Given the description of an element on the screen output the (x, y) to click on. 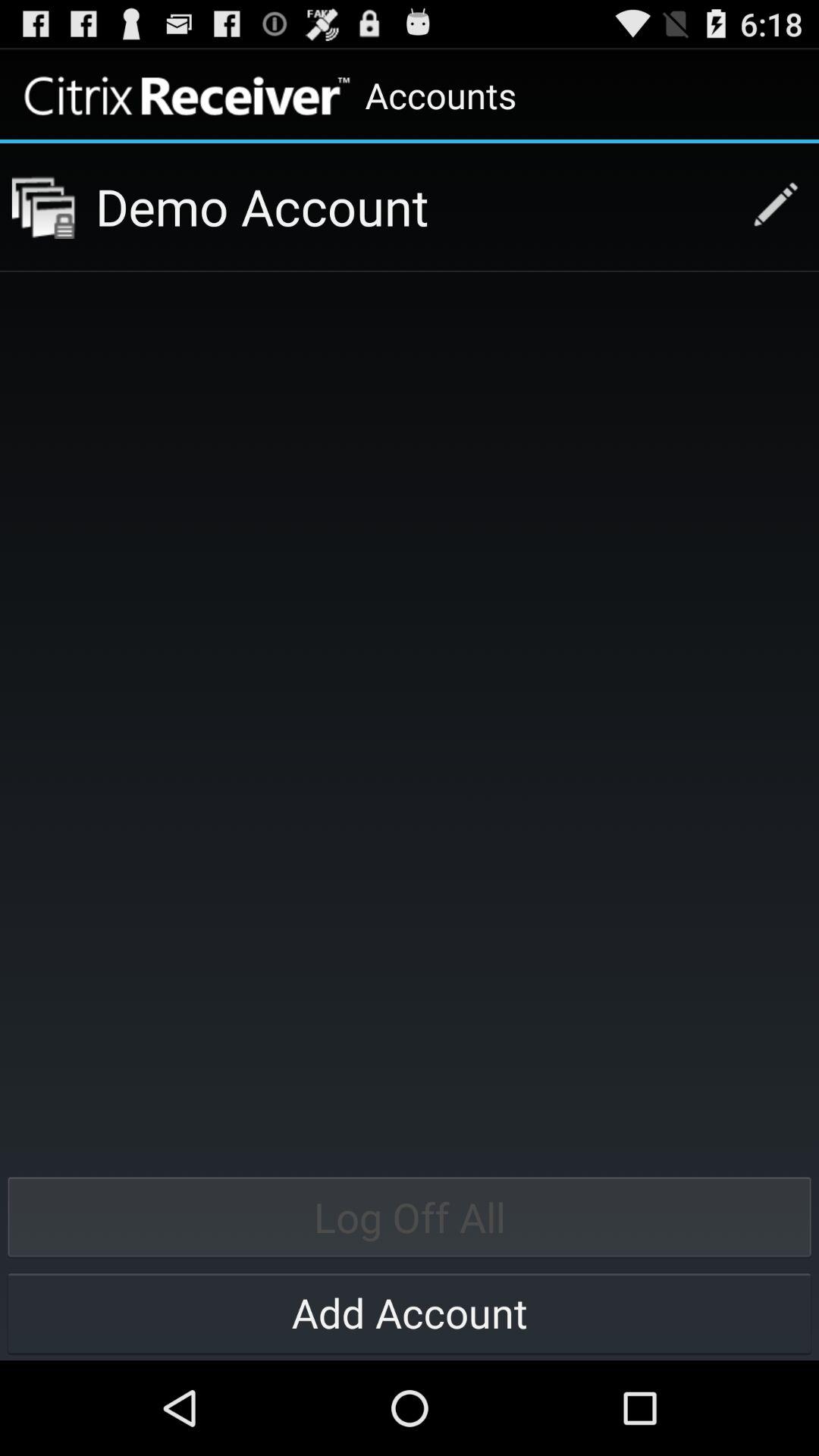
open app below the accounts item (412, 206)
